Given the description of an element on the screen output the (x, y) to click on. 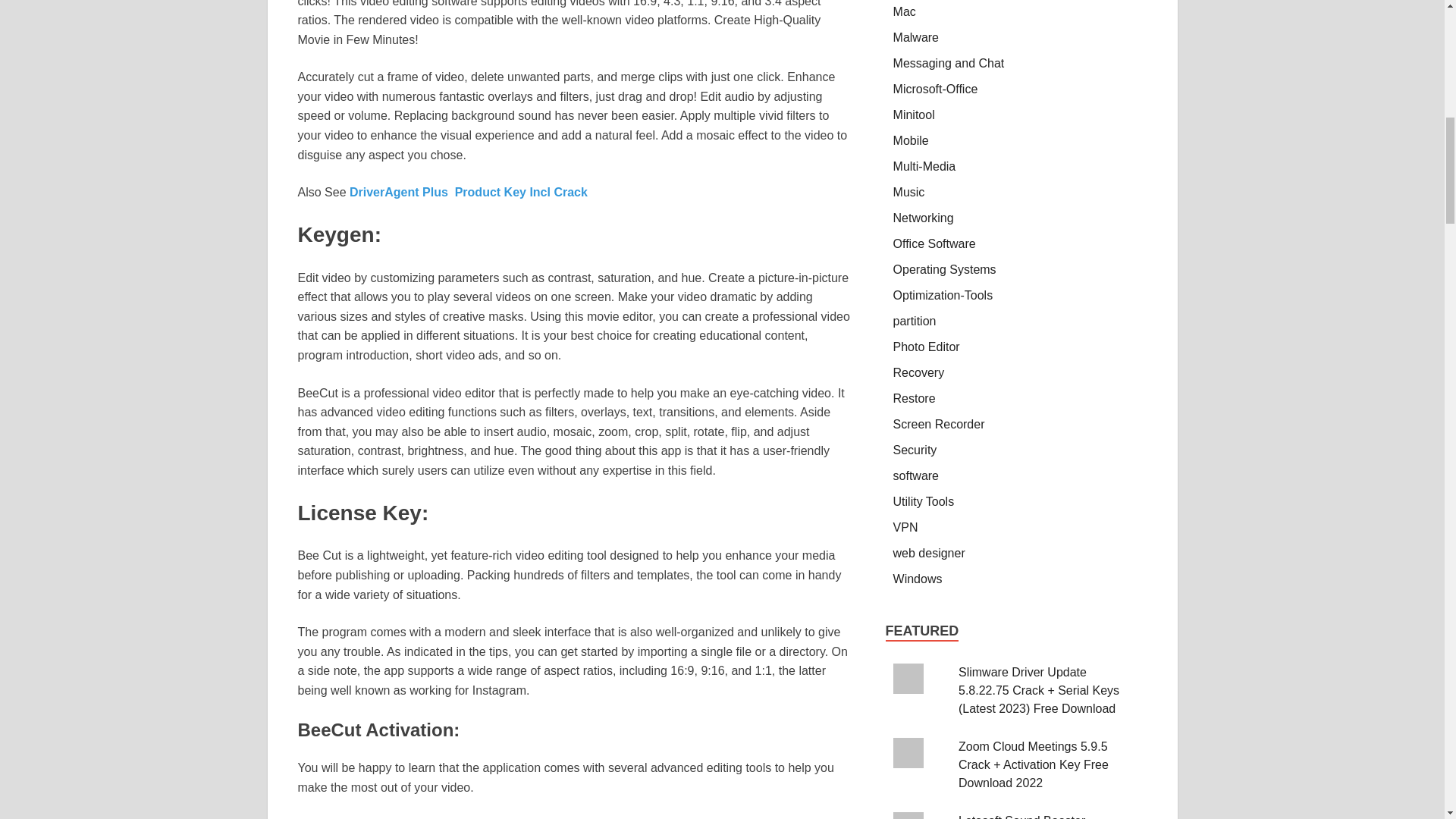
DriverAgent Plus  Product Key Incl Crack (468, 192)
